Given the description of an element on the screen output the (x, y) to click on. 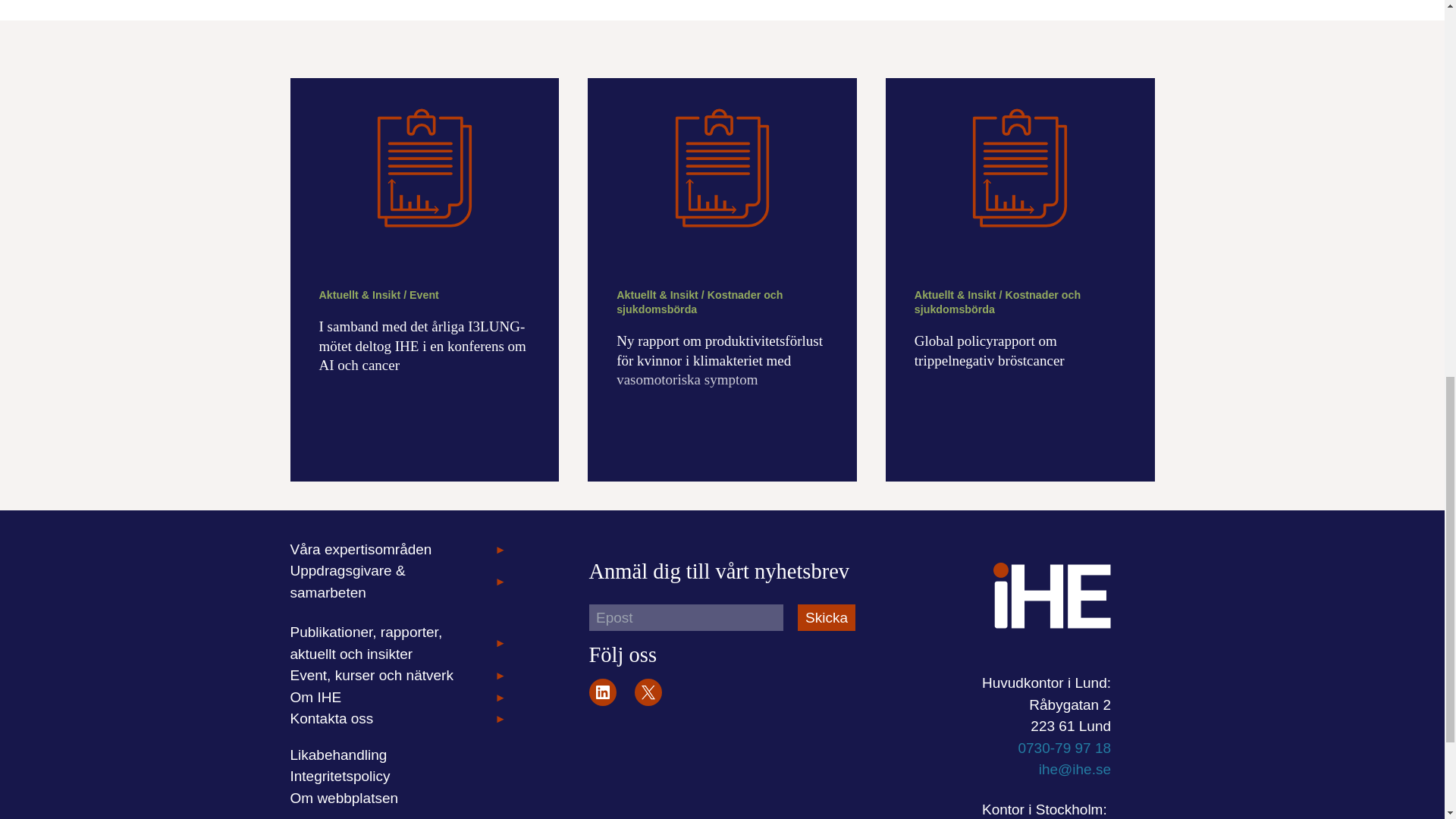
Skicka (826, 617)
